Given the description of an element on the screen output the (x, y) to click on. 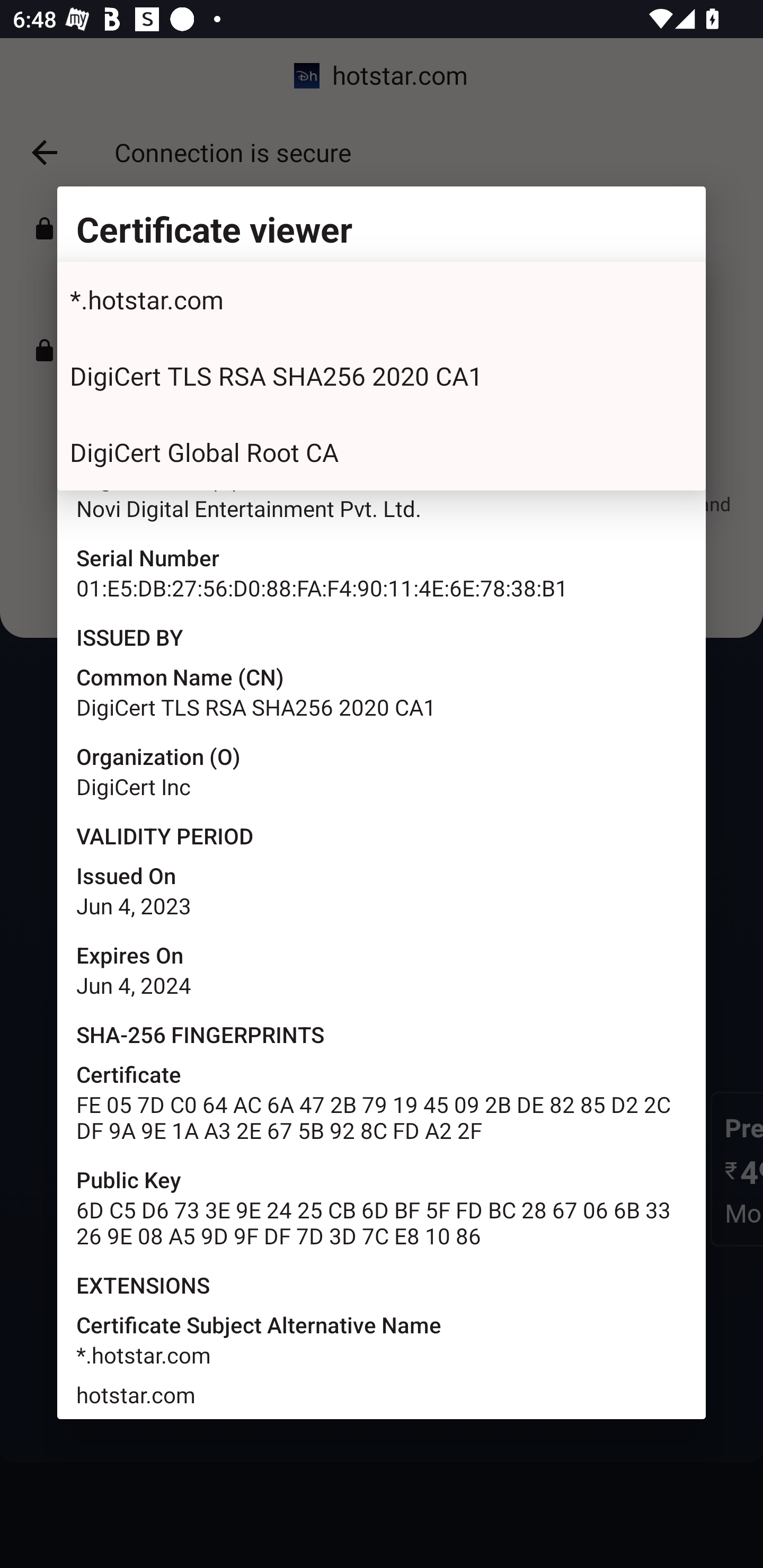
*.hotstar.com (381, 299)
DigiCert TLS RSA SHA256 2020 CA1 (381, 375)
DigiCert Global Root CA (381, 451)
